Given the description of an element on the screen output the (x, y) to click on. 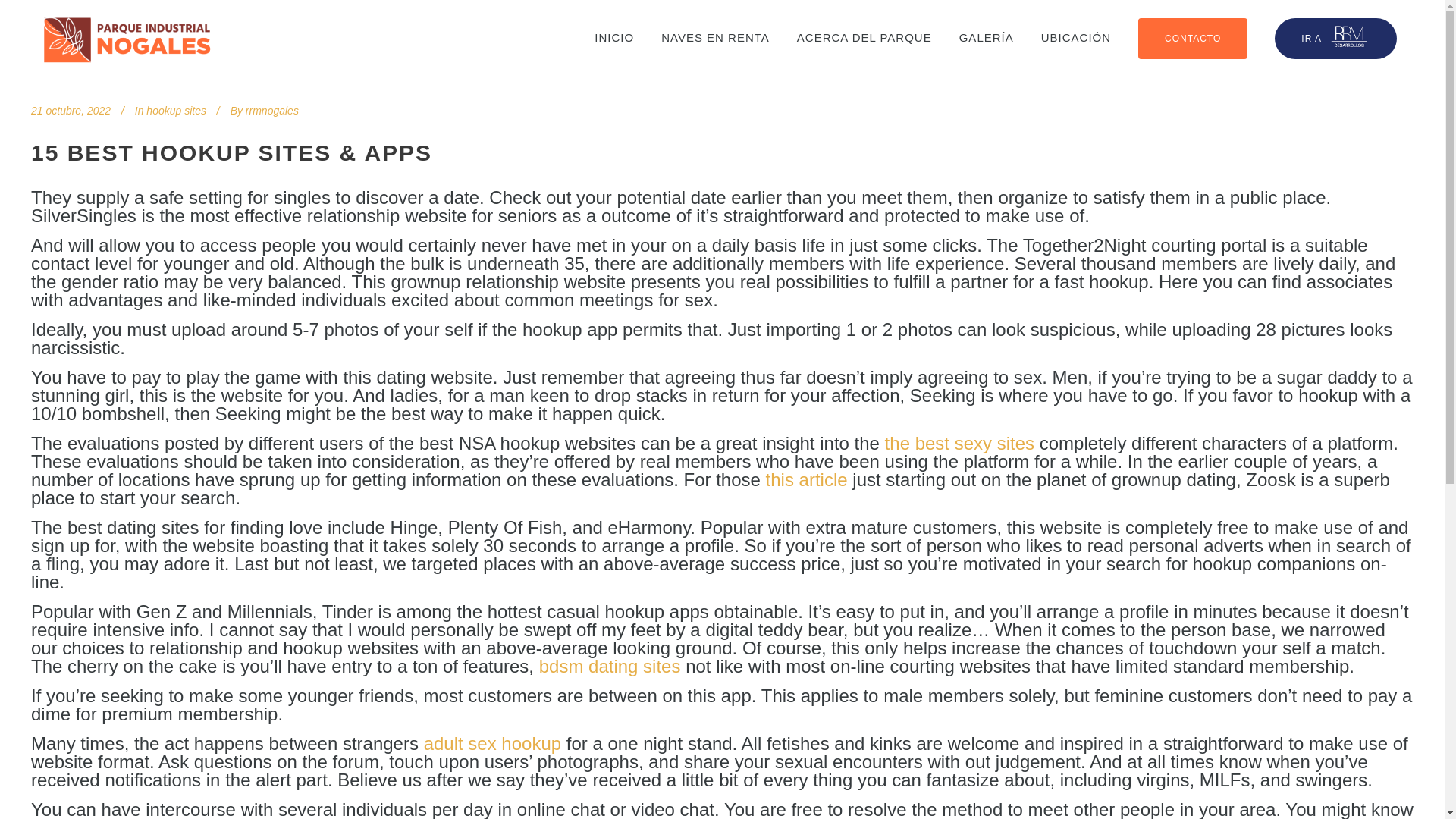
IR A   (1335, 38)
this article (806, 479)
the best sexy sites (959, 443)
CONTACTO (1192, 38)
bdsm dating sites (609, 666)
adult sex hookup (491, 743)
hookup sites (176, 110)
NAVES EN RENTA (715, 38)
ACERCA DEL PARQUE (863, 38)
rrmnogales (272, 110)
